Given the description of an element on the screen output the (x, y) to click on. 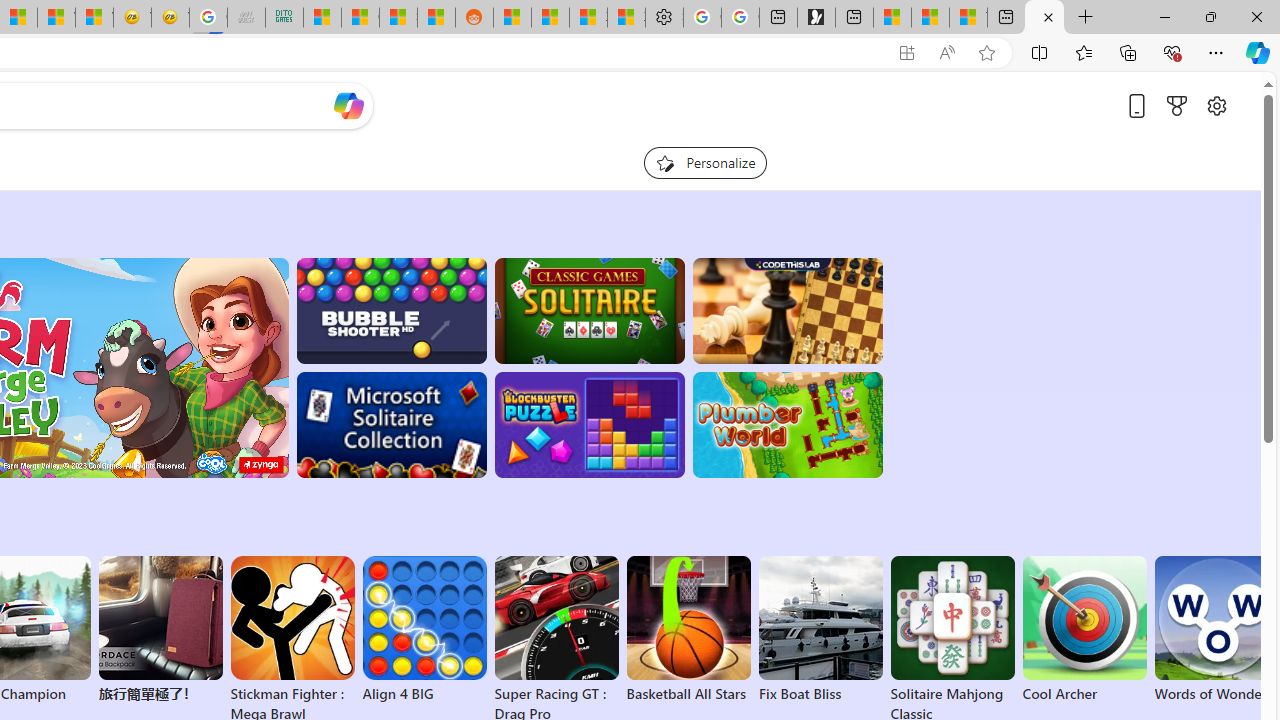
Plumber World (787, 425)
App available. Install Games from Microsoft Start (867, 53)
Cool Archer (1083, 629)
